Given the description of an element on the screen output the (x, y) to click on. 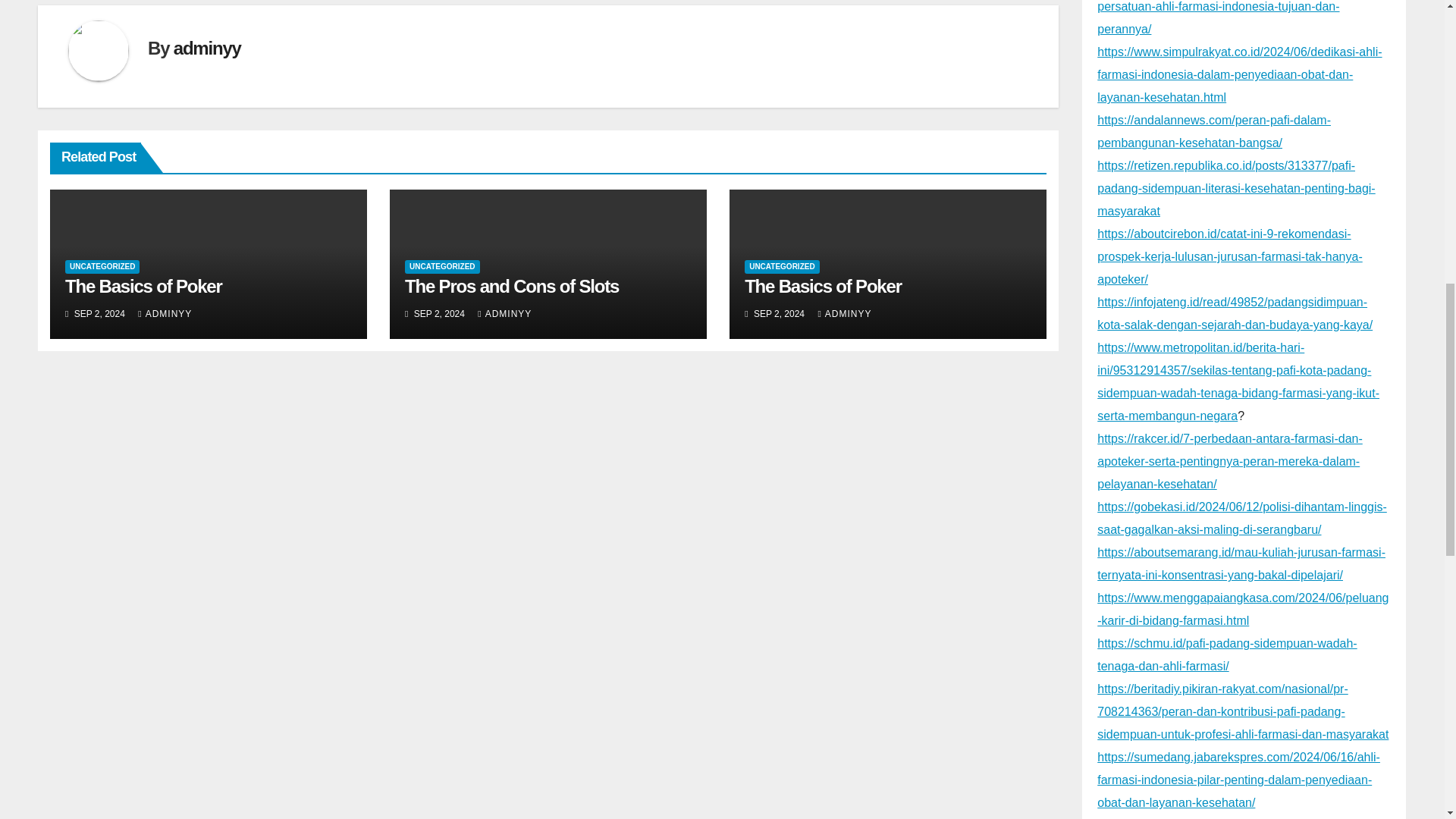
ADMINYY (504, 313)
The Basics of Poker (143, 286)
adminyy (207, 47)
The Basics of Poker (822, 286)
Permalink to: The Basics of Poker (143, 286)
ADMINYY (843, 313)
Permalink to: The Pros and Cons of Slots (511, 286)
Permalink to: The Basics of Poker (822, 286)
UNCATEGORIZED (441, 266)
UNCATEGORIZED (781, 266)
